Given the description of an element on the screen output the (x, y) to click on. 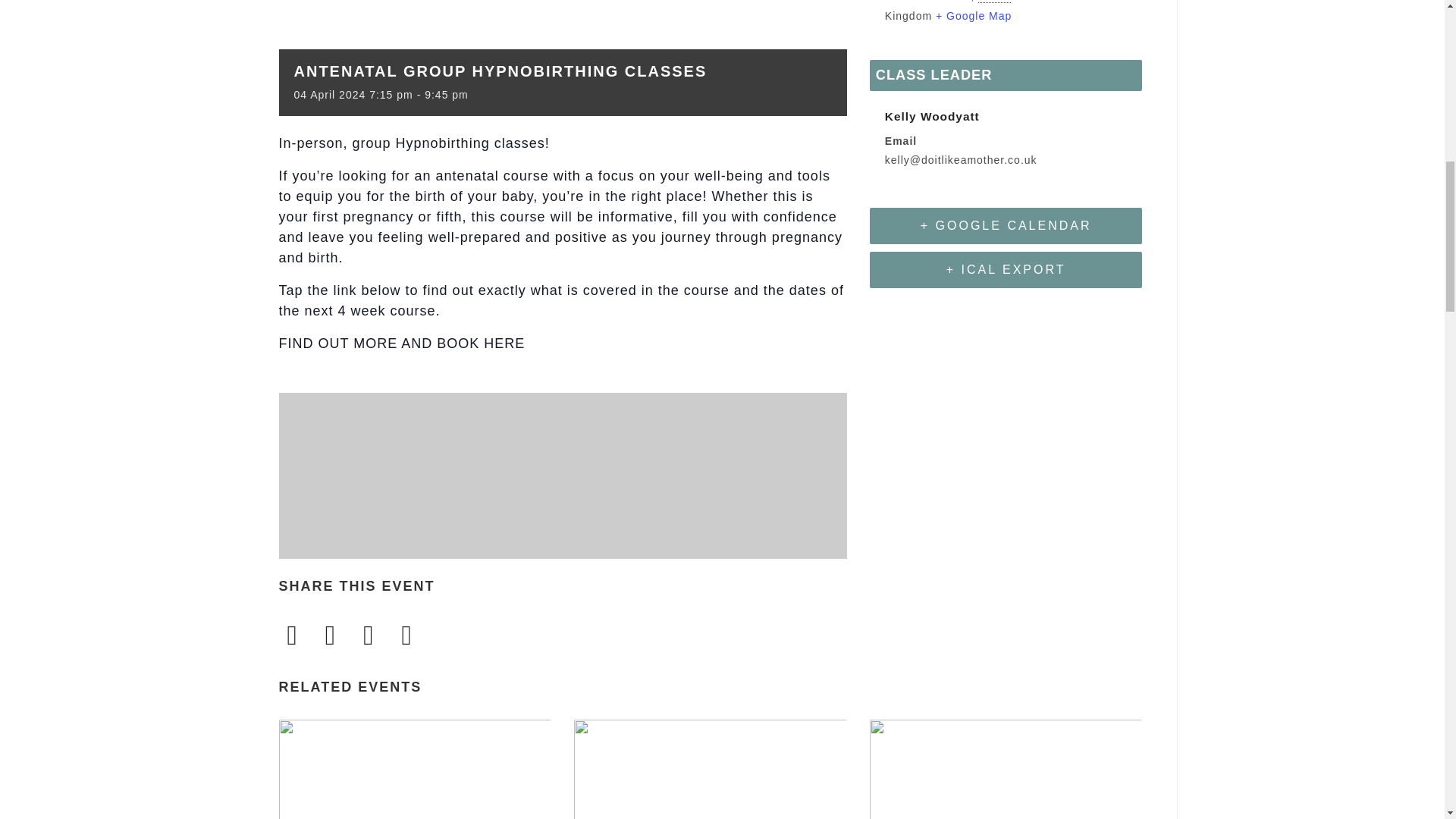
Click to view a Google Map (973, 15)
Essex (994, 1)
Download .ics file (1005, 269)
Add to Google Calendar (1005, 226)
Kelly Woodyatt (932, 115)
